Given the description of an element on the screen output the (x, y) to click on. 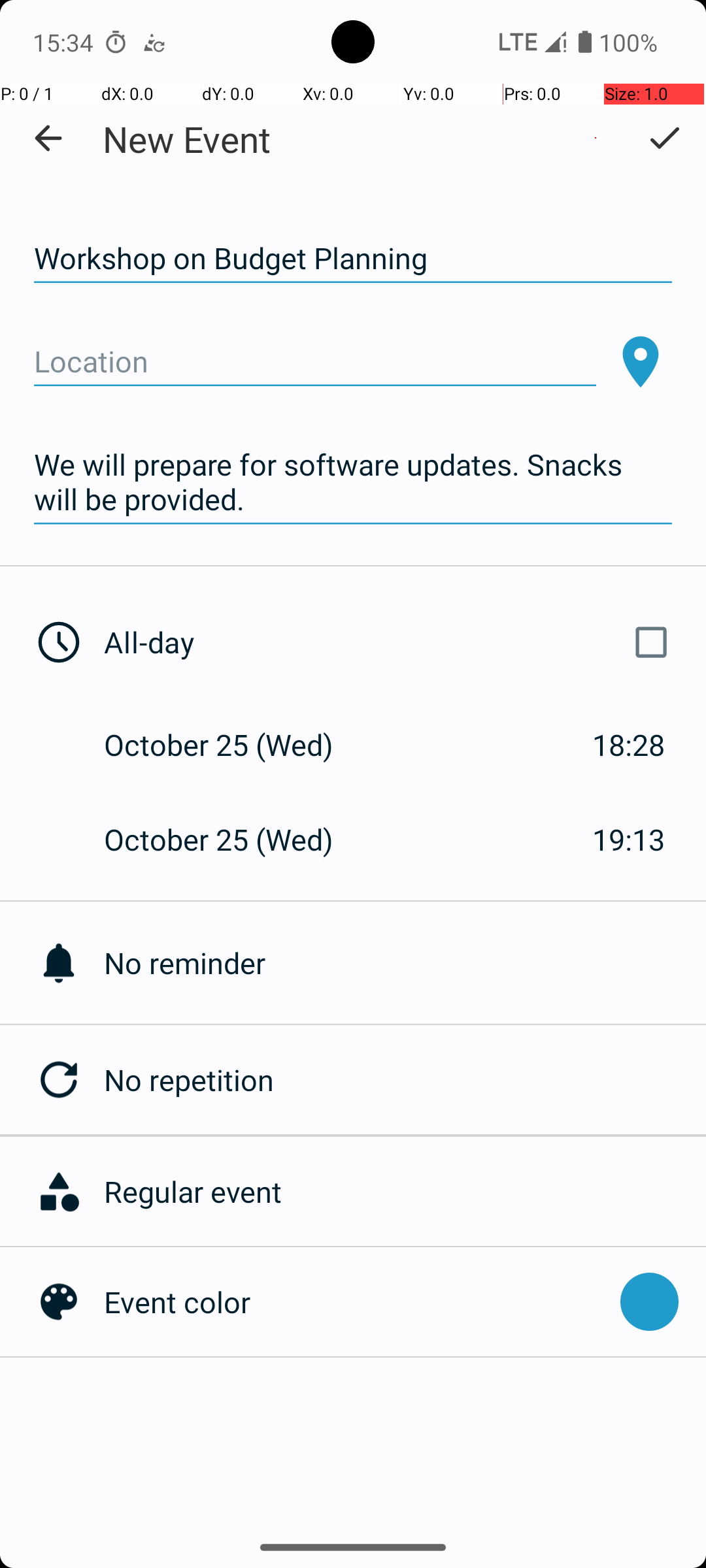
We will prepare for software updates. Snacks will be provided. Element type: android.widget.EditText (352, 482)
October 25 (Wed) Element type: android.widget.TextView (232, 744)
18:28 Element type: android.widget.TextView (628, 744)
19:13 Element type: android.widget.TextView (628, 838)
